Given the description of an element on the screen output the (x, y) to click on. 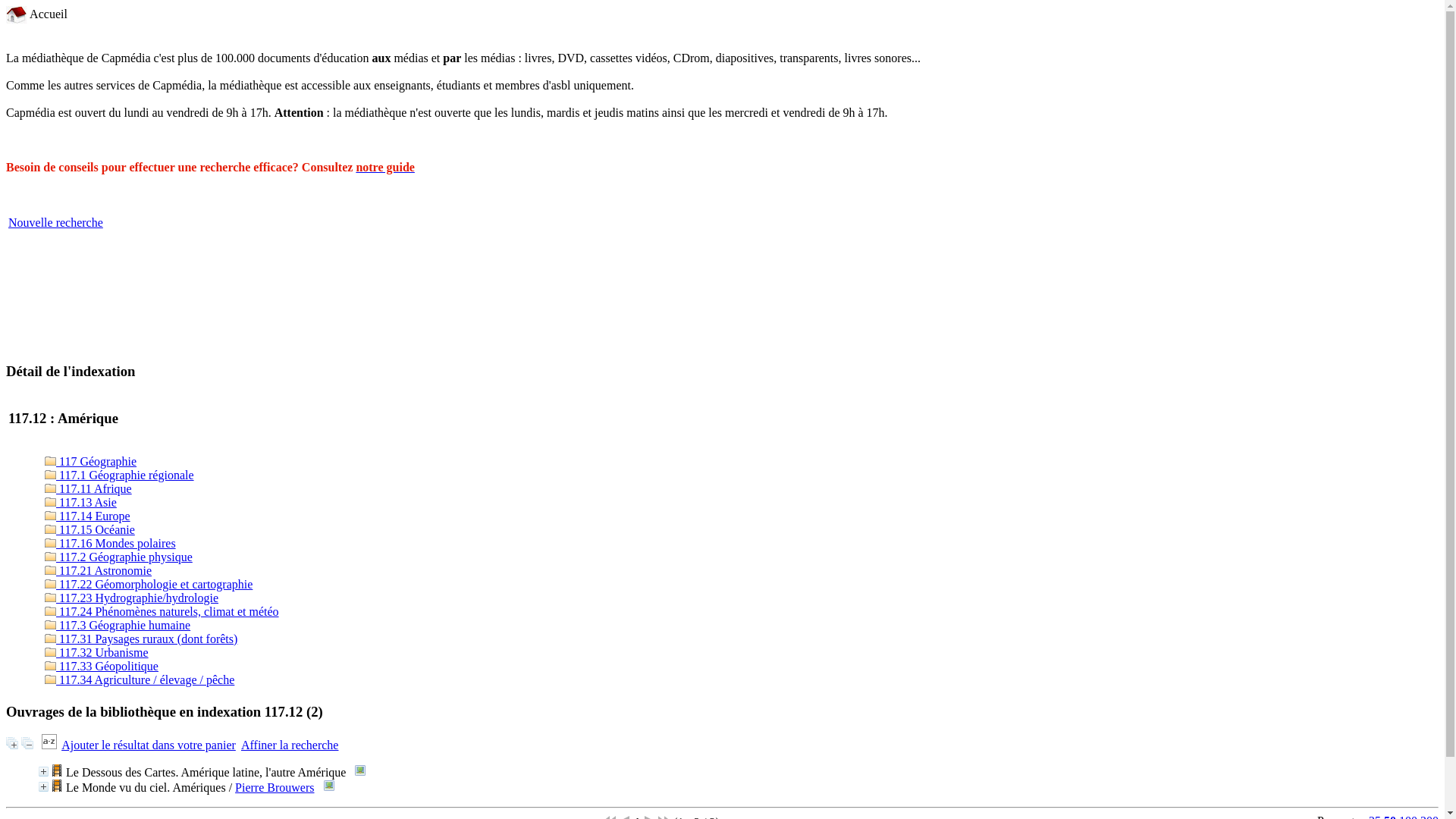
117.13 Asie Element type: text (80, 501)
Nouvelle recherche Element type: text (55, 222)
117.21 Astronomie Element type: text (97, 570)
Ouvrir le document 102387 Element type: hover (360, 770)
Affiner la recherche Element type: text (289, 744)
117.14 Europe Element type: text (87, 515)
Ouvrir le document 101542 Element type: hover (329, 785)
117.11 Afrique Element type: text (87, 488)
117.16 Mondes polaires Element type: text (109, 542)
Tris disponibles Element type: hover (50, 744)
117.23 Hydrographie/hydrologie Element type: text (131, 597)
117.32 Urbanisme Element type: text (96, 652)
notre guide Element type: text (384, 166)
Pierre Brouwers Element type: text (274, 787)
Accueil Element type: text (36, 13)
